Given the description of an element on the screen output the (x, y) to click on. 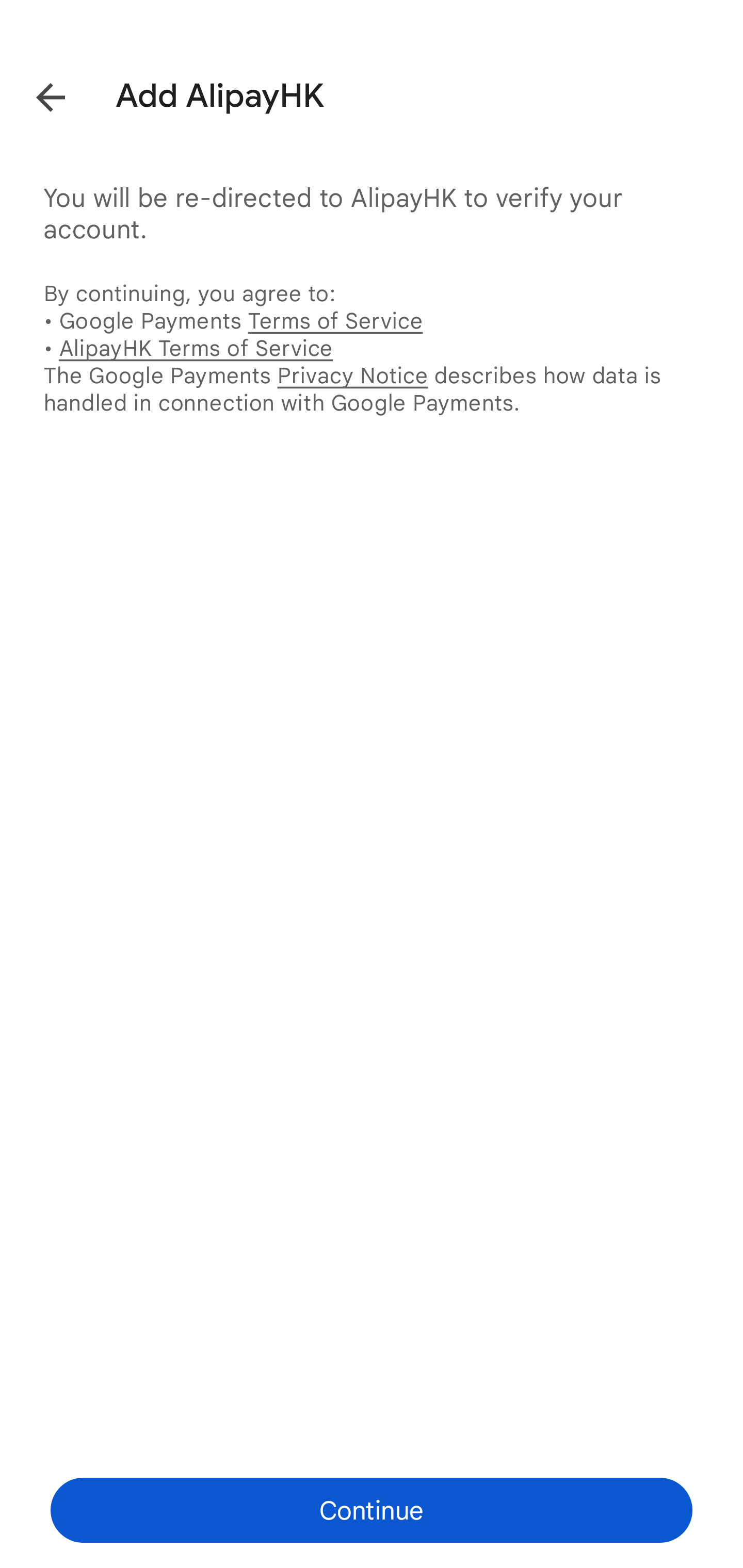
Back (36, 94)
Terms of Service (334, 320)
AlipayHK Terms of Service (195, 347)
Privacy Notice (352, 375)
Continue (371, 1510)
